Given the description of an element on the screen output the (x, y) to click on. 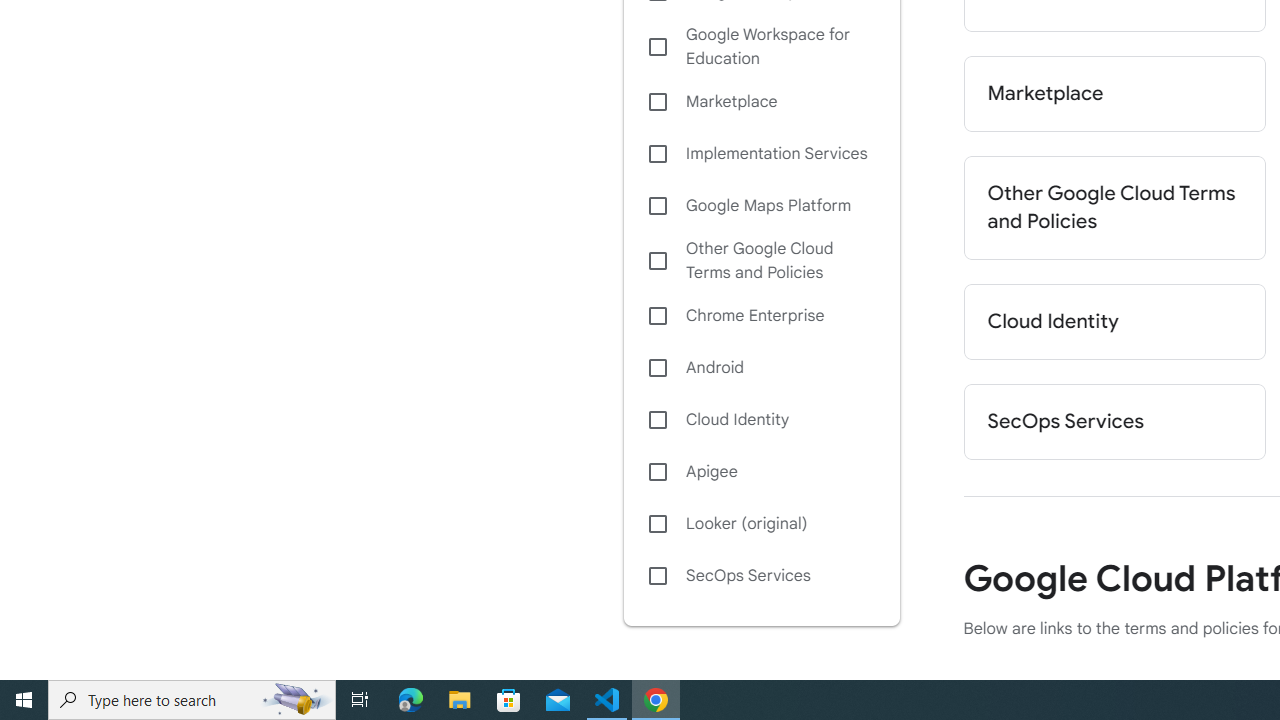
Other Google Cloud Terms and Policies (1114, 207)
SecOps Services (1114, 421)
Marketplace (761, 102)
Other Google Cloud Terms and Policies (761, 260)
Looker (original) (761, 524)
Implementation Services (761, 154)
Google Workspace for Education (761, 47)
Marketplace (1114, 93)
Android (761, 367)
Cloud Identity (1114, 321)
Chrome Enterprise (761, 316)
Cloud Identity (761, 419)
SecOps Services (761, 575)
Google Maps Platform (761, 205)
